Given the description of an element on the screen output the (x, y) to click on. 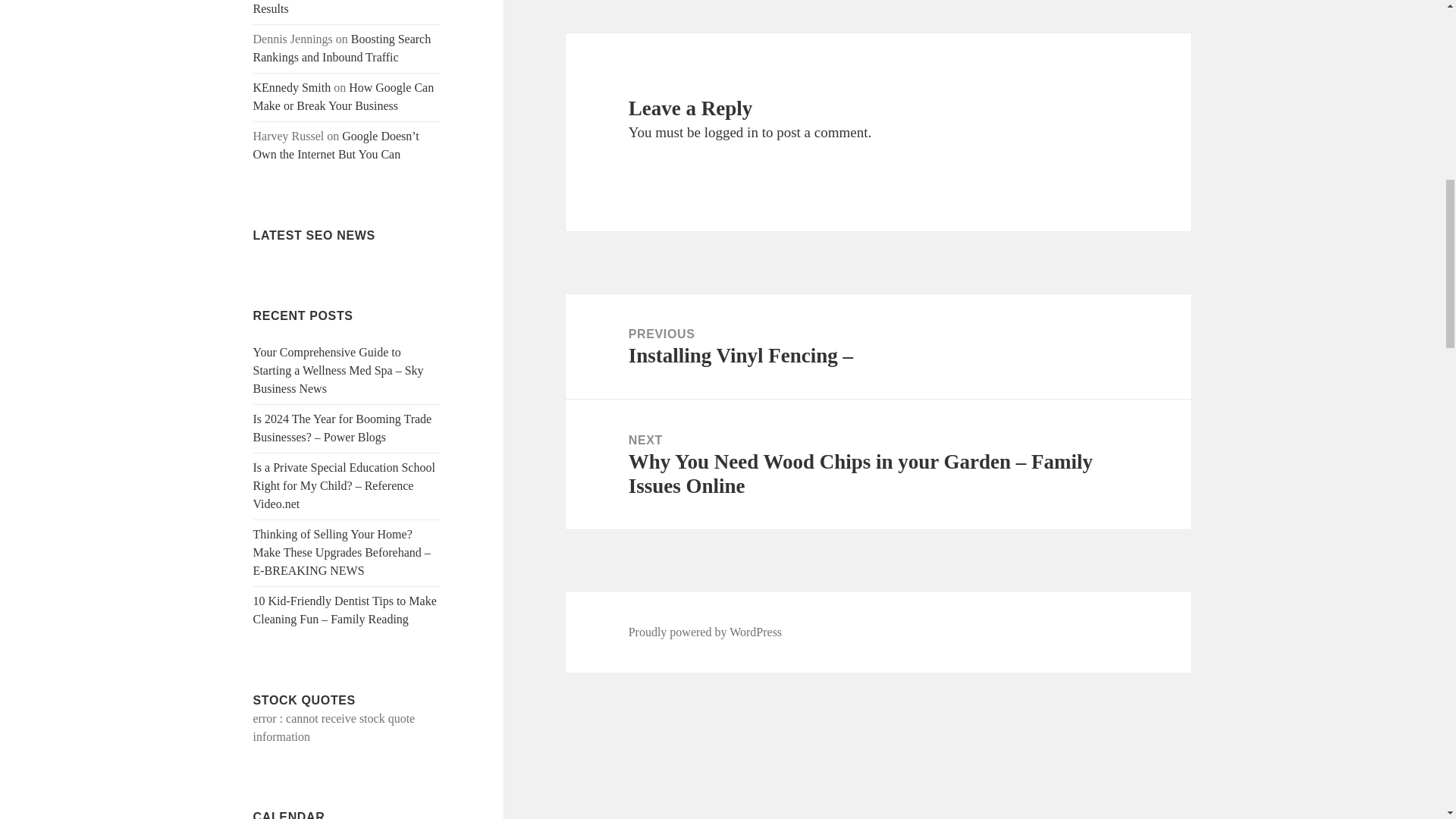
Boosting Search Rankings and Inbound Traffic (341, 47)
How Google Can Make or Break Your Business (343, 96)
KEnnedy Smith (292, 87)
